Given the description of an element on the screen output the (x, y) to click on. 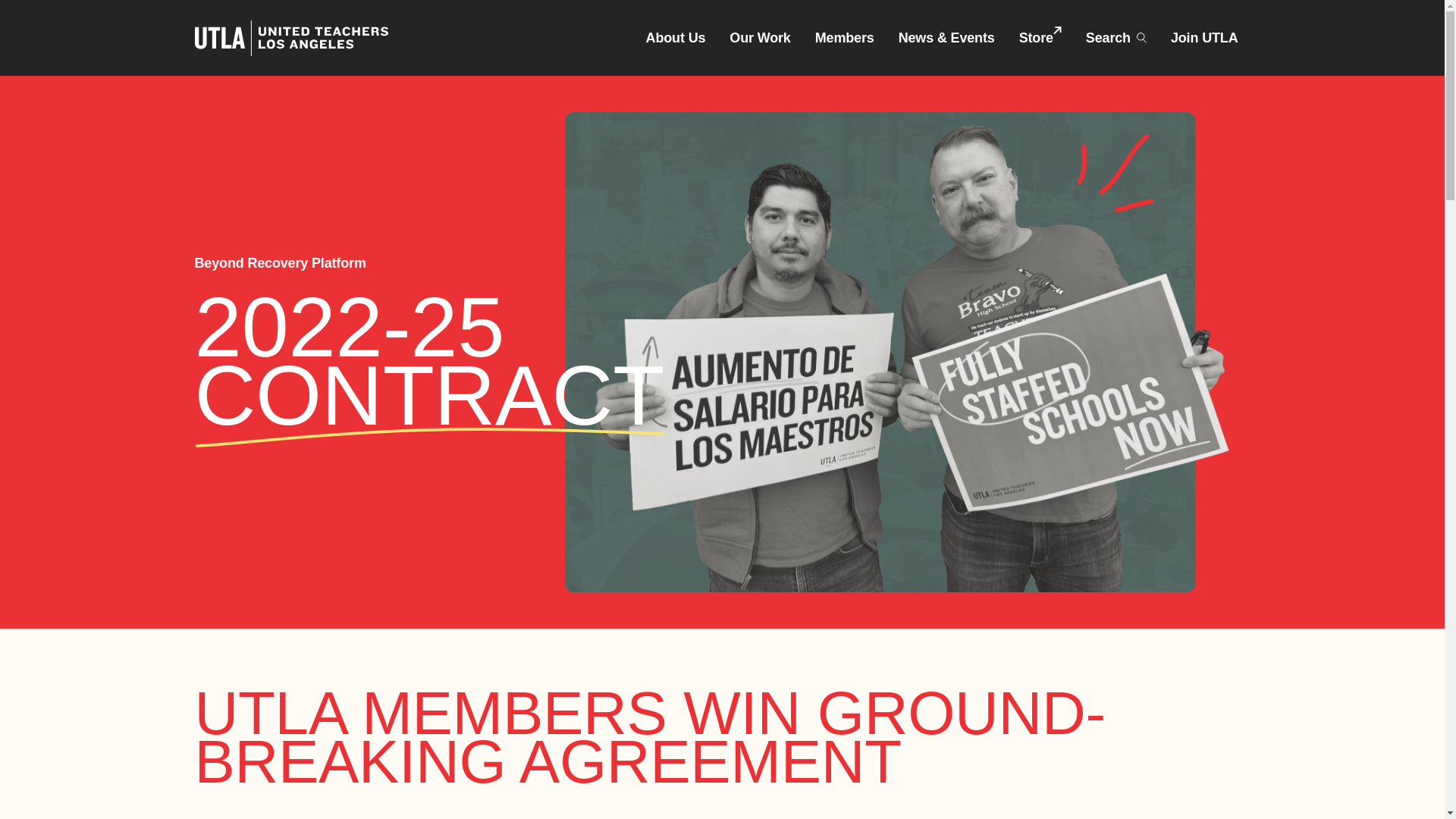
UTLA's home page (290, 37)
About Us (675, 38)
Members (844, 38)
Our Work (759, 38)
